Given the description of an element on the screen output the (x, y) to click on. 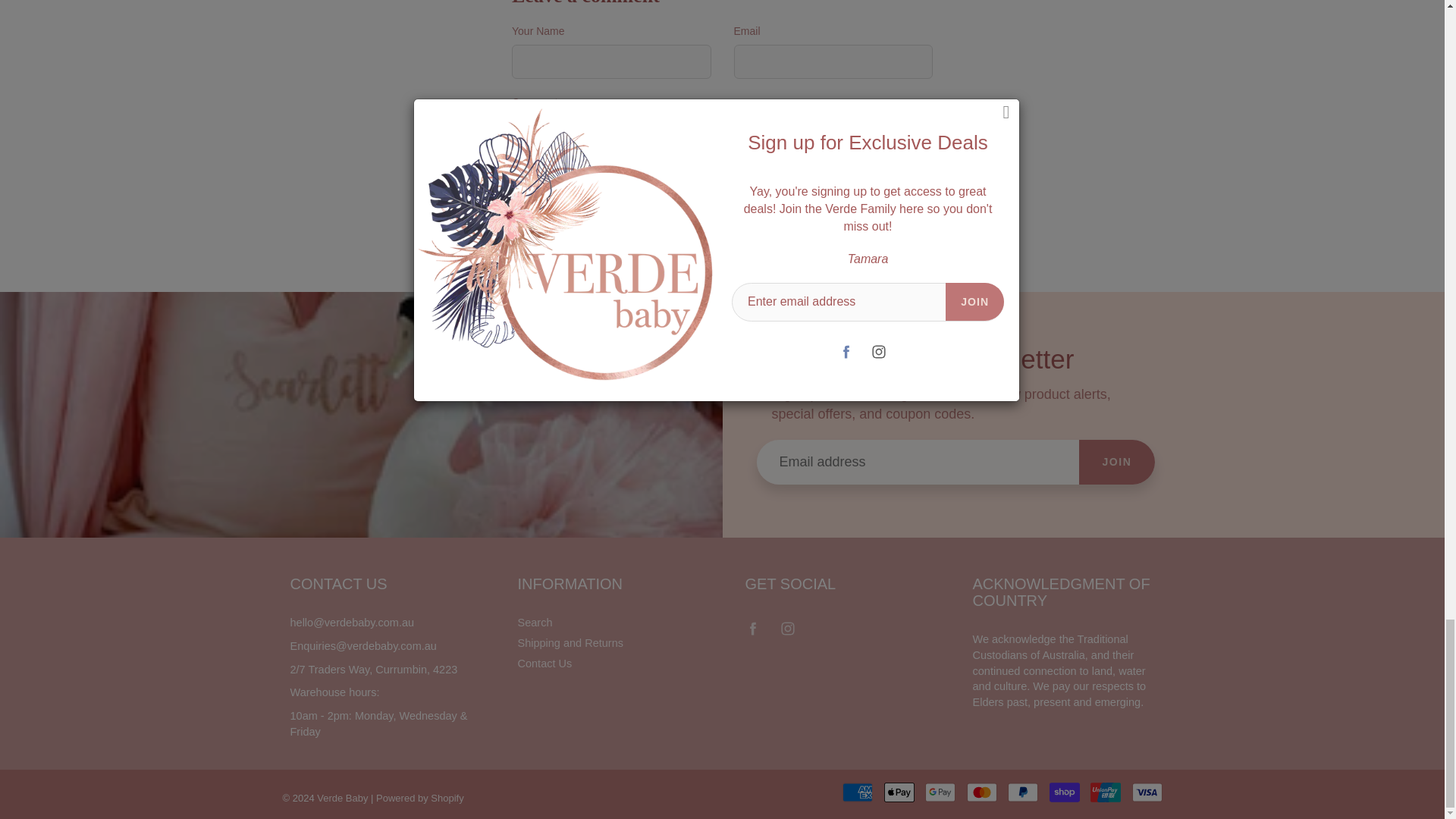
Instagram (788, 628)
Facebook (753, 628)
